Given the description of an element on the screen output the (x, y) to click on. 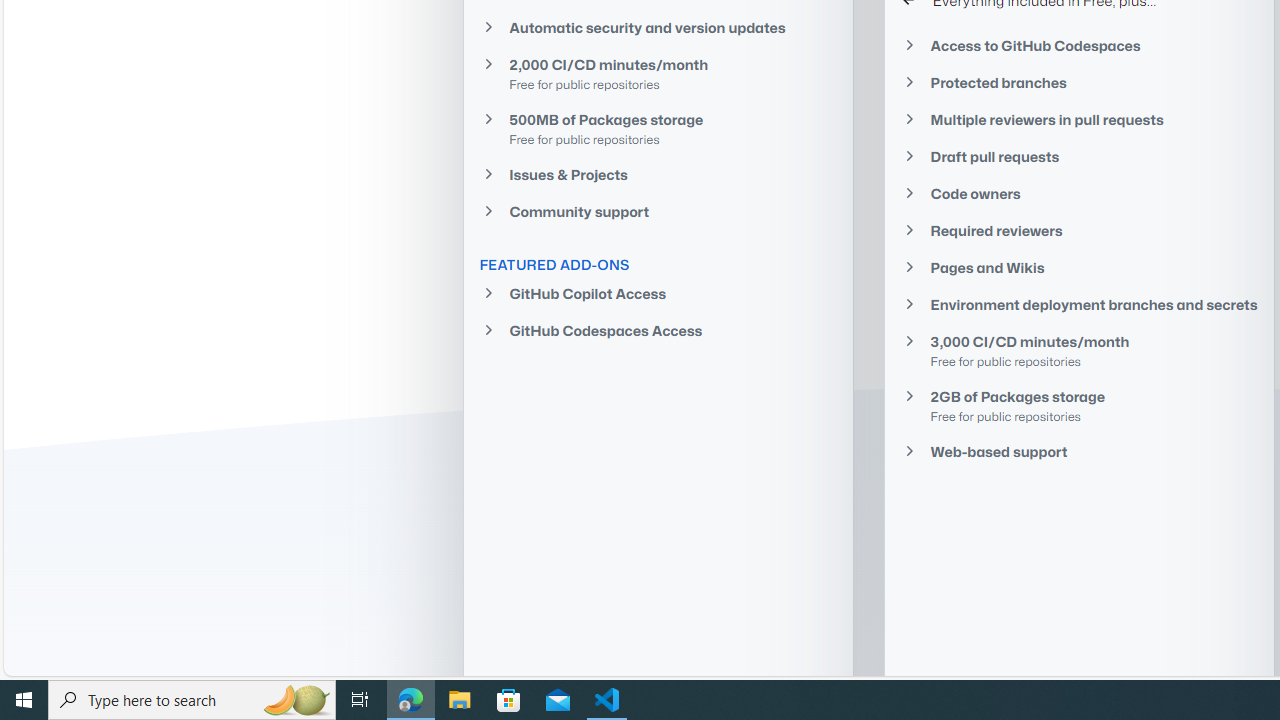
GitHub Codespaces Access (657, 330)
Pages and Wikis (1079, 268)
Environment deployment branches and secrets (1079, 304)
GitHub Codespaces Access (657, 330)
Access to GitHub Codespaces (1079, 45)
Required reviewers (1079, 229)
Multiple reviewers in pull requests (1079, 119)
Issues & Projects (657, 174)
Community support (657, 211)
Multiple reviewers in pull requests (1079, 119)
2,000 CI/CD minutes/monthFree for public repositories (657, 73)
2GB of Packages storage Free for public repositories (1079, 406)
Community support (657, 211)
3,000 CI/CD minutes/monthFree for public repositories (1079, 349)
Required reviewers (1079, 230)
